Given the description of an element on the screen output the (x, y) to click on. 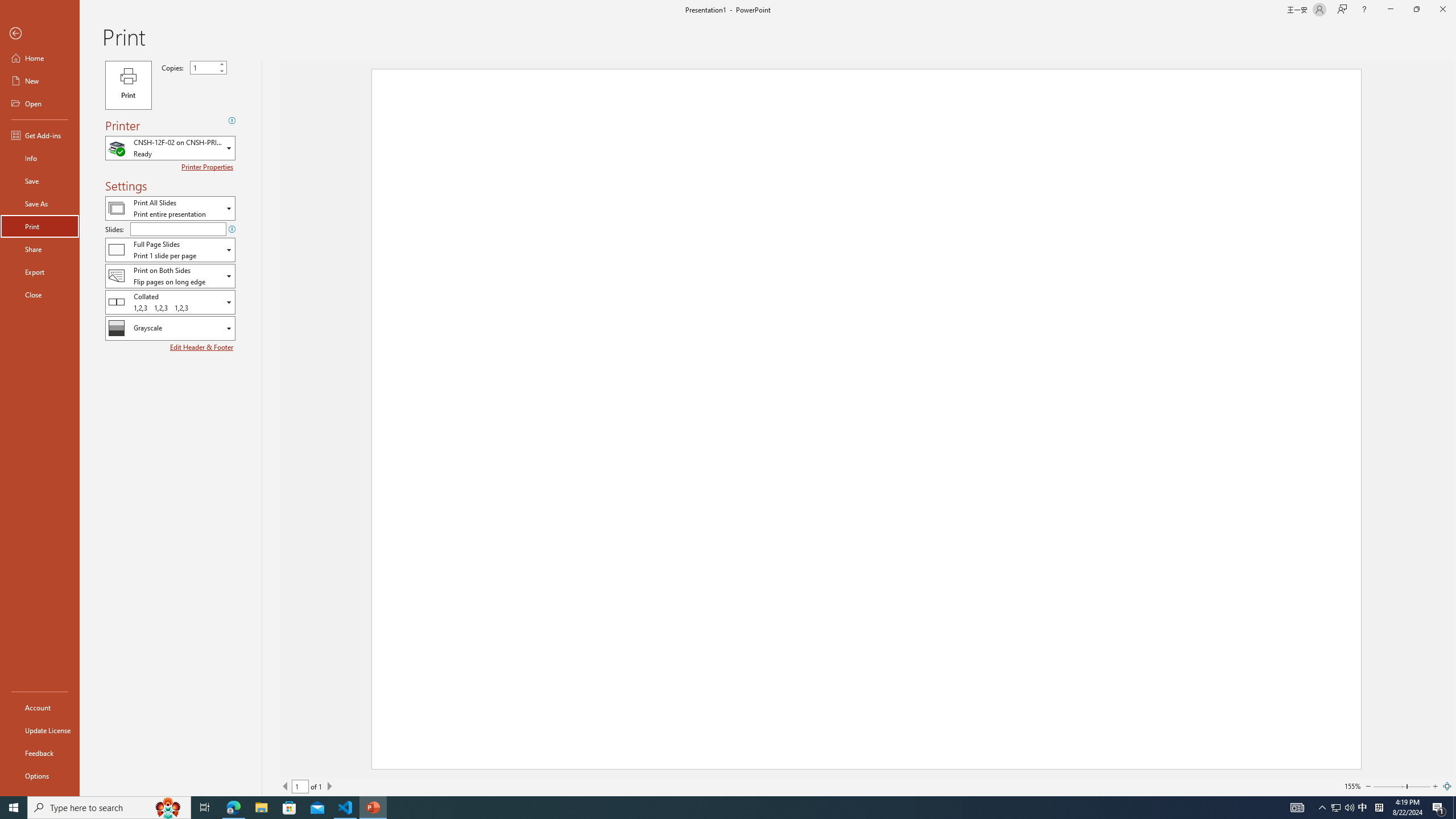
155% (1352, 785)
New (40, 80)
Get Add-ins (40, 134)
Feedback (40, 753)
More (220, 64)
Next Page (328, 786)
Printer Properties (208, 166)
Restore Down (1416, 9)
Print What (169, 208)
Print (40, 225)
Info (40, 157)
